Given the description of an element on the screen output the (x, y) to click on. 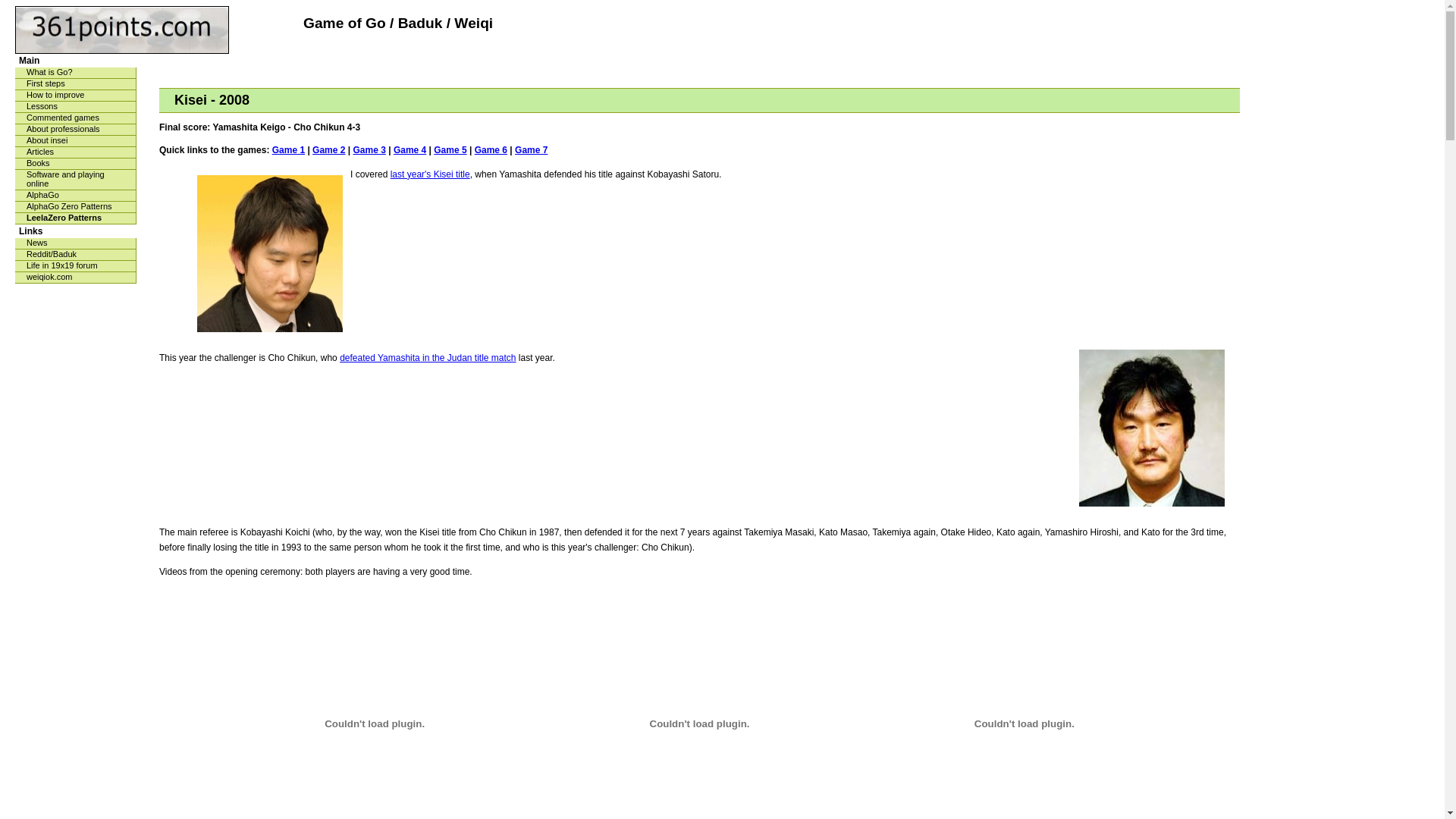
LeelaZero Patterns Element type: text (75, 218)
Reddit/Baduk Element type: text (75, 254)
AlphaGo Element type: text (75, 195)
Life in 19x19 forum Element type: text (75, 266)
AlphaGo Zero Patterns Element type: text (75, 207)
Game 4 Element type: text (409, 149)
First steps Element type: text (75, 84)
Software and playing online Element type: text (75, 179)
Game 6 Element type: text (490, 149)
weiqiok.com Element type: text (75, 277)
Lessons Element type: text (75, 106)
Articles Element type: text (75, 152)
Game 3 Element type: text (369, 149)
About professionals Element type: text (75, 129)
How to improve Element type: text (75, 95)
Game 5 Element type: text (449, 149)
Game 2 Element type: text (328, 149)
Game 7 Element type: text (530, 149)
Books Element type: text (75, 163)
What is Go? Element type: text (75, 72)
News Element type: text (75, 243)
defeated Yamashita in the Judan title match Element type: text (427, 357)
last year's Kisei title Element type: text (430, 174)
Commented games Element type: text (75, 118)
About insei Element type: text (75, 141)
Game 1 Element type: text (288, 149)
